Given the description of an element on the screen output the (x, y) to click on. 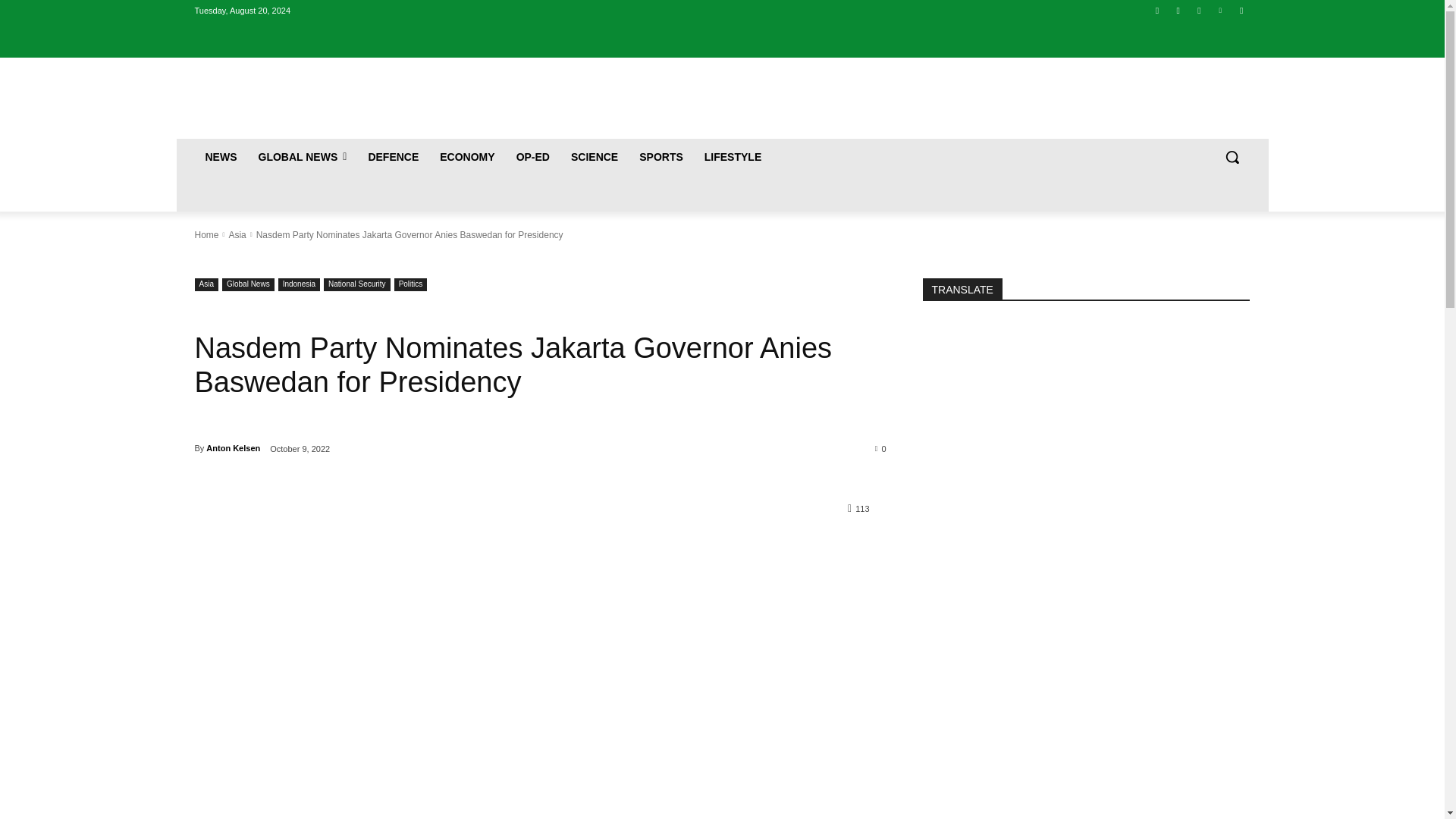
Facebook (1157, 9)
Instagram (1177, 9)
Vimeo (1219, 9)
View all posts in Asia (237, 235)
Twitter (1199, 9)
Youtube (1241, 9)
